Given the description of an element on the screen output the (x, y) to click on. 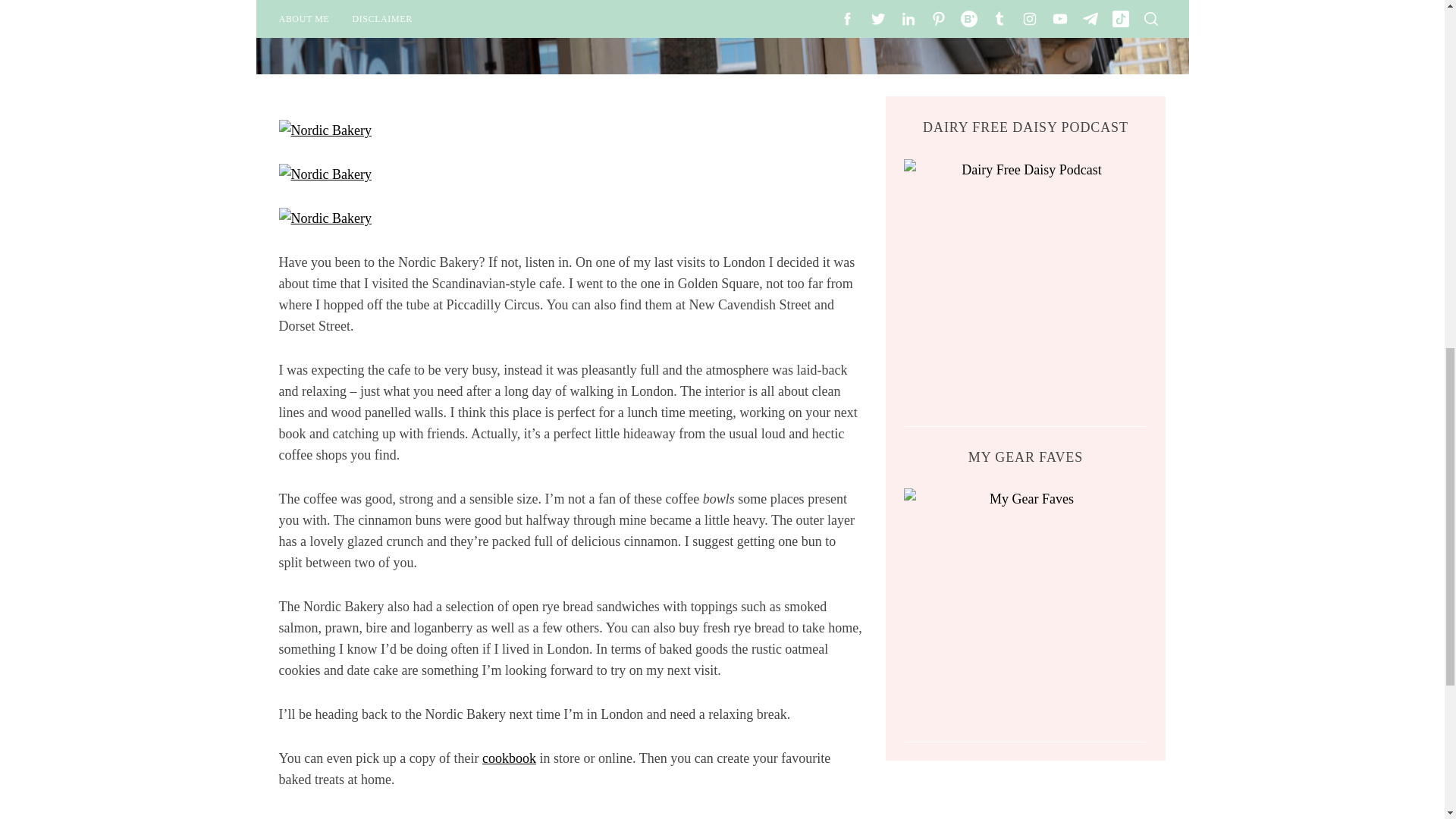
Nordic Bakery by Daisy Hatami, on Flickr (325, 218)
cookbook (508, 758)
Nordic Bakery by Daisy Hatami, on Flickr (325, 130)
Nordic Bakery by Daisy Hatami, on Flickr (325, 174)
